Given the description of an element on the screen output the (x, y) to click on. 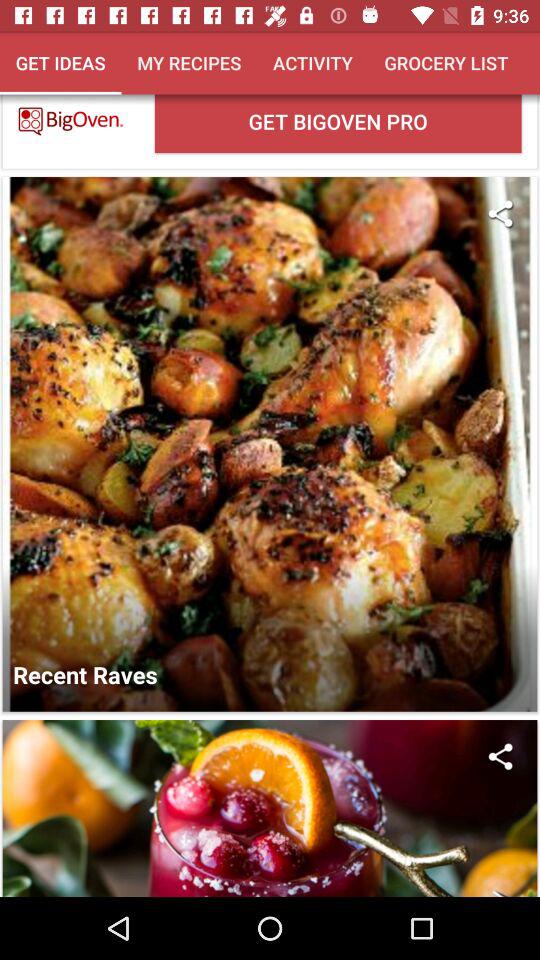
content picture (269, 808)
